Given the description of an element on the screen output the (x, y) to click on. 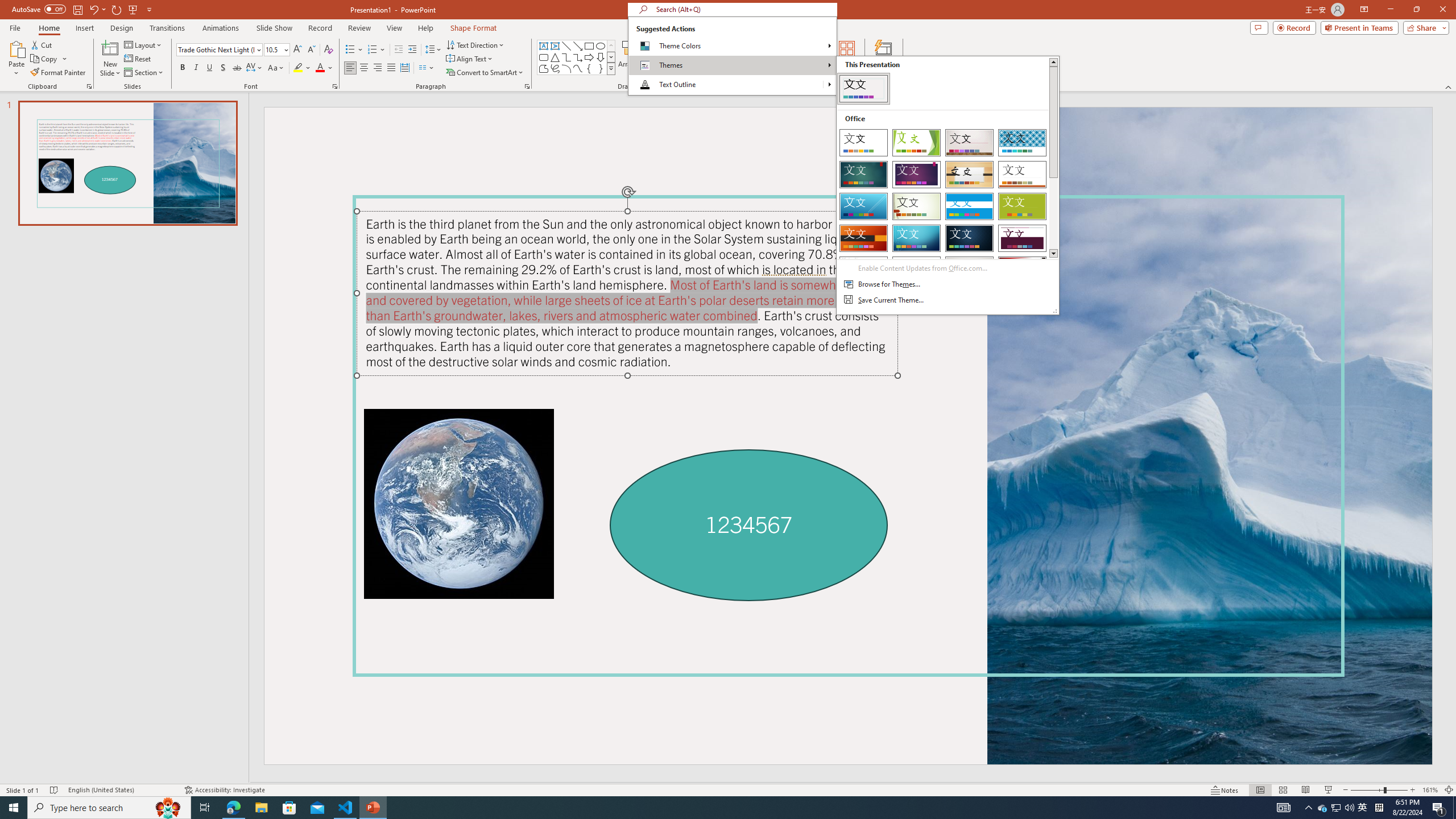
Increase Indent (412, 49)
Line Spacing (433, 49)
Change Case (276, 67)
Reset (138, 58)
